Given the description of an element on the screen output the (x, y) to click on. 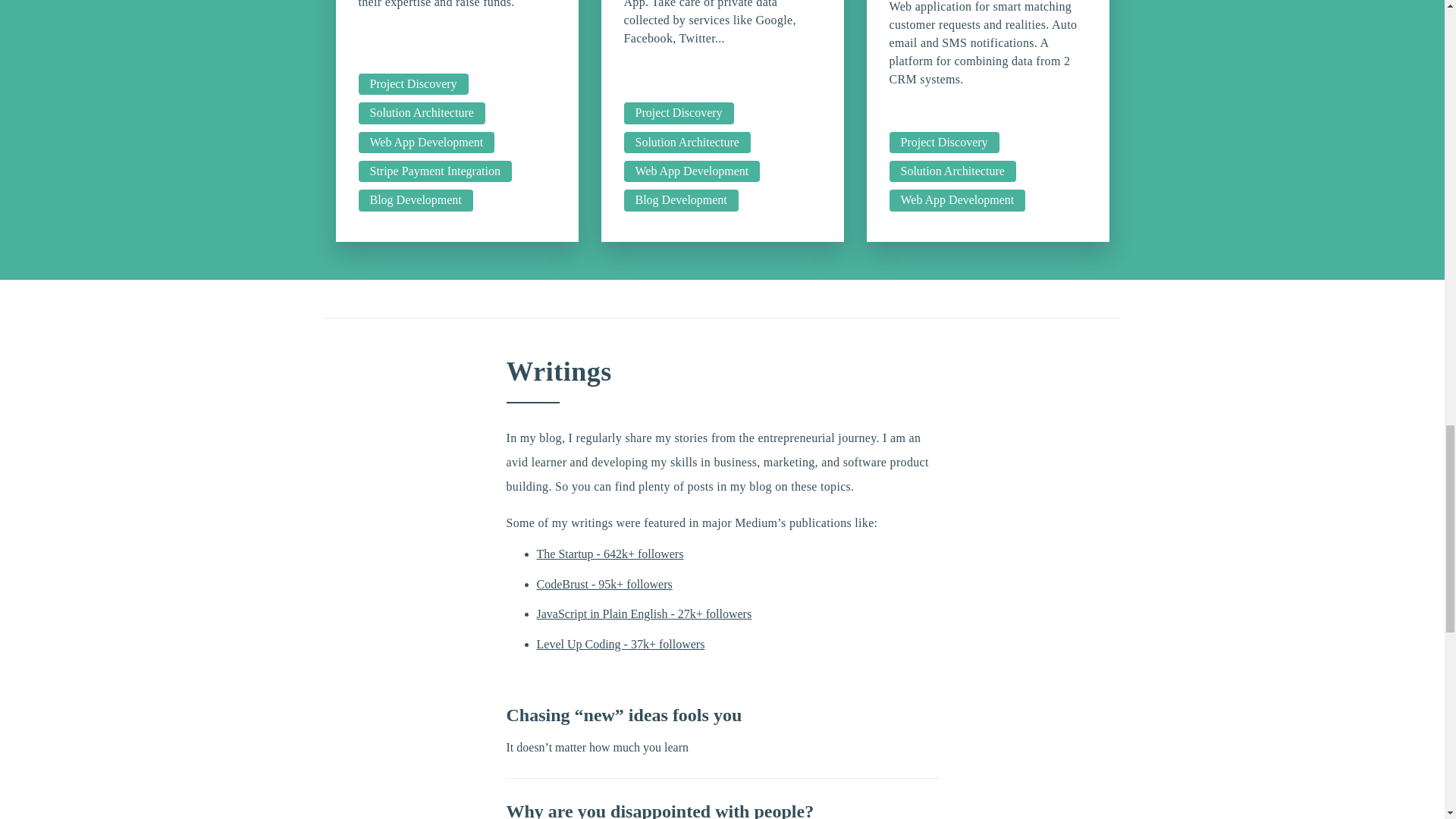
Why are you disappointed with people? (659, 810)
